Given the description of an element on the screen output the (x, y) to click on. 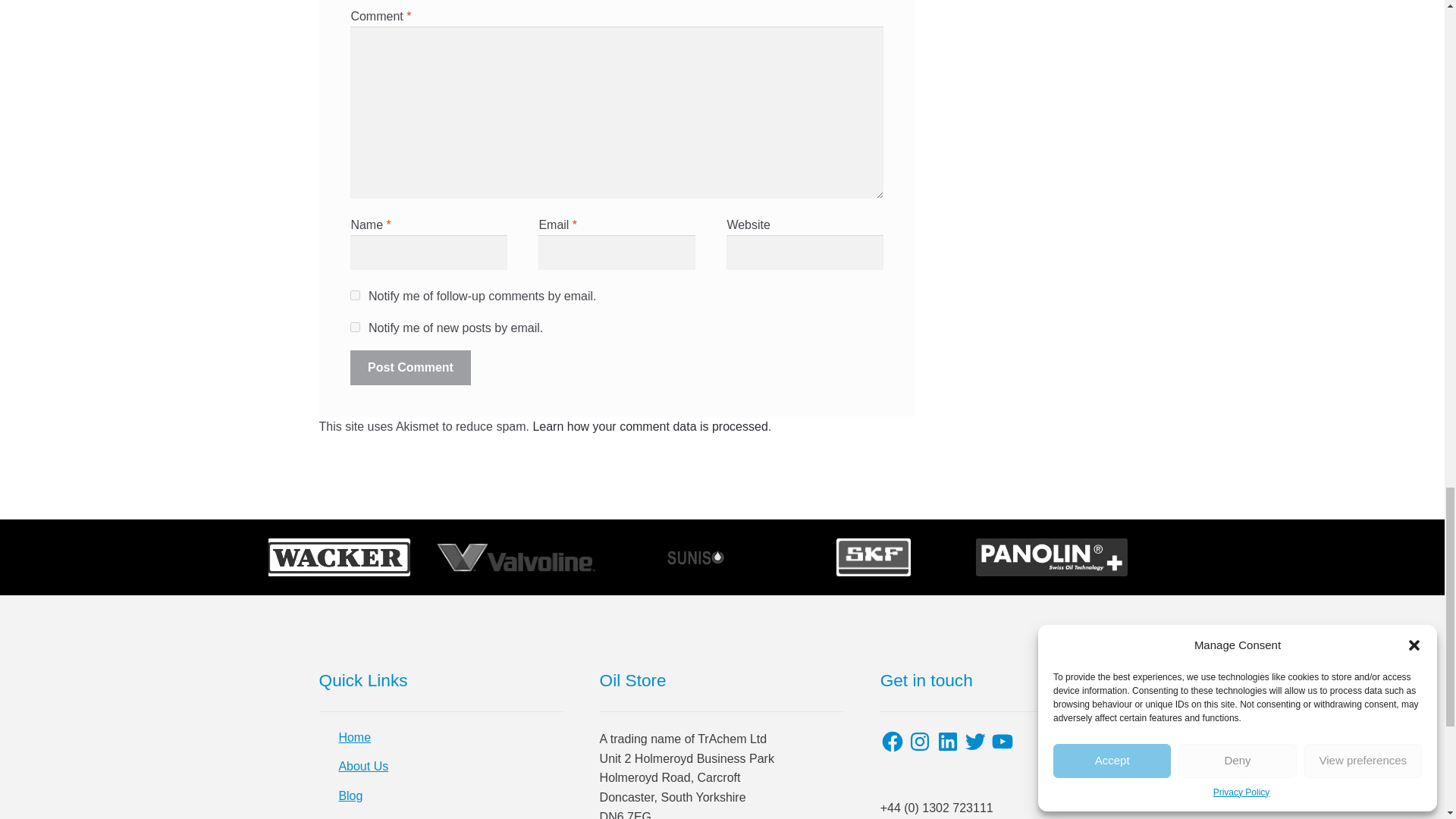
Post Comment (410, 367)
Suniso (695, 557)
Valvoline (516, 557)
WACKER (338, 557)
SKF Grease (873, 557)
subscribe (354, 327)
subscribe (354, 295)
Panolin (1050, 557)
